Given the description of an element on the screen output the (x, y) to click on. 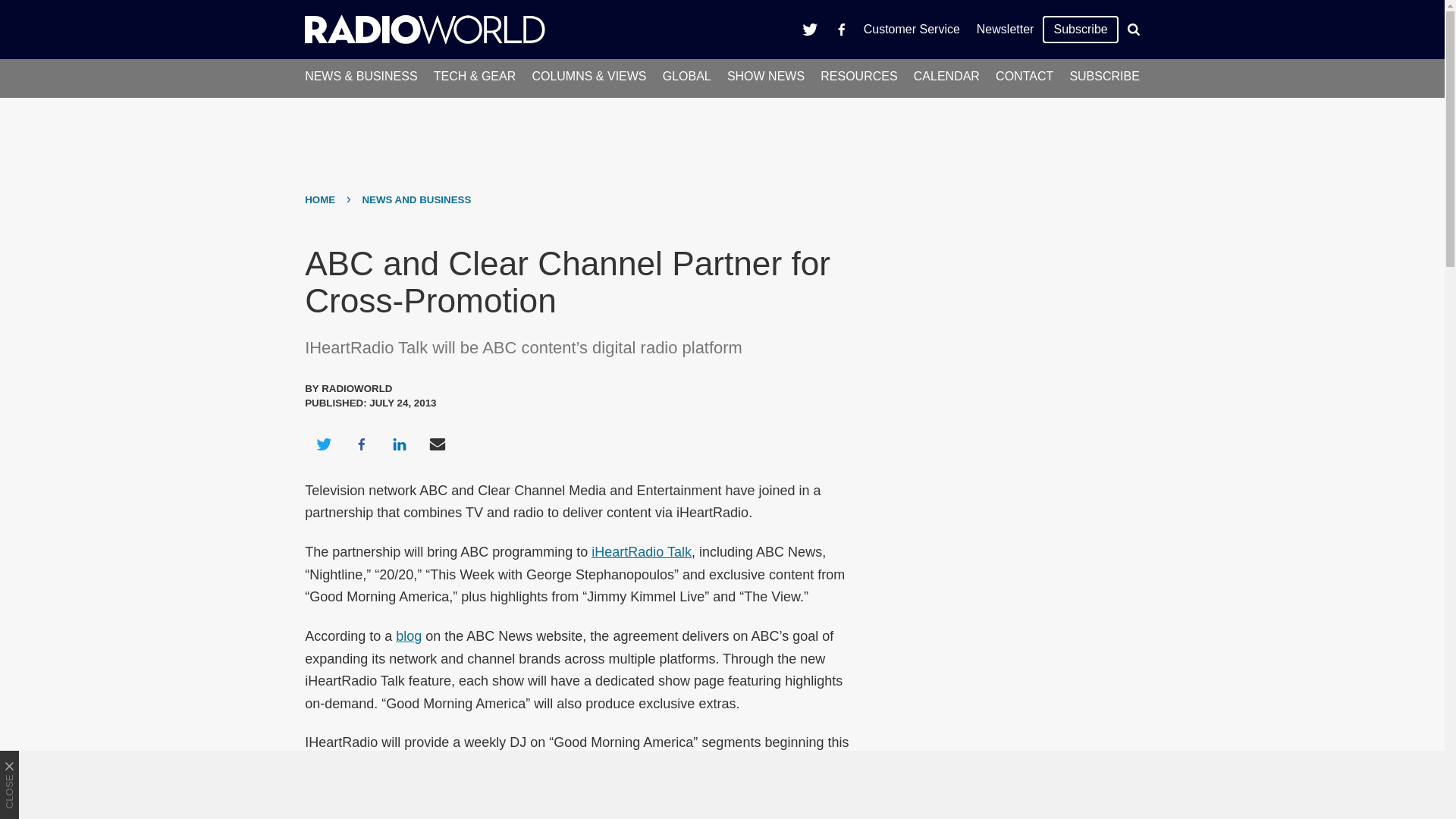
Share on LinkedIn (399, 444)
Customer Service (912, 29)
Share on Facebook (361, 444)
Share on Twitter (323, 444)
Share via Email (438, 444)
